Given the description of an element on the screen output the (x, y) to click on. 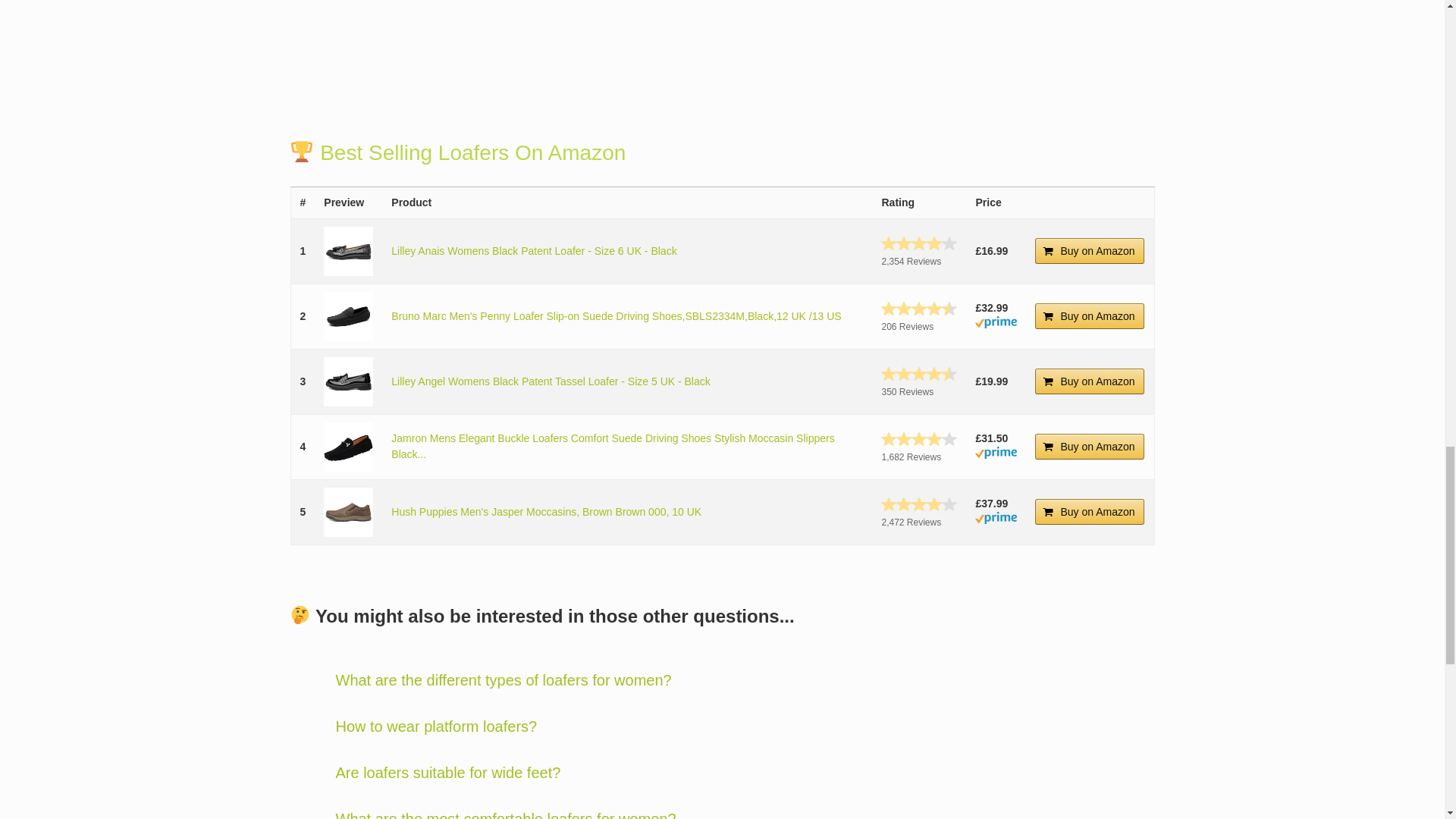
YouTube video player (591, 37)
Buy on Amazon (1089, 250)
Reviews on Amazon (918, 242)
Buy on Amazon (1089, 380)
Lilley Anais Womens Black Patent Loafer - Size 6 UK - Black (347, 251)
Reviews on Amazon (918, 308)
Lilley Anais Womens Black Patent Loafer - Size 6 UK - Black (534, 250)
Reviews on Amazon (918, 373)
Buy on Amazon (1089, 316)
Amazon Prime (995, 324)
